Given the description of an element on the screen output the (x, y) to click on. 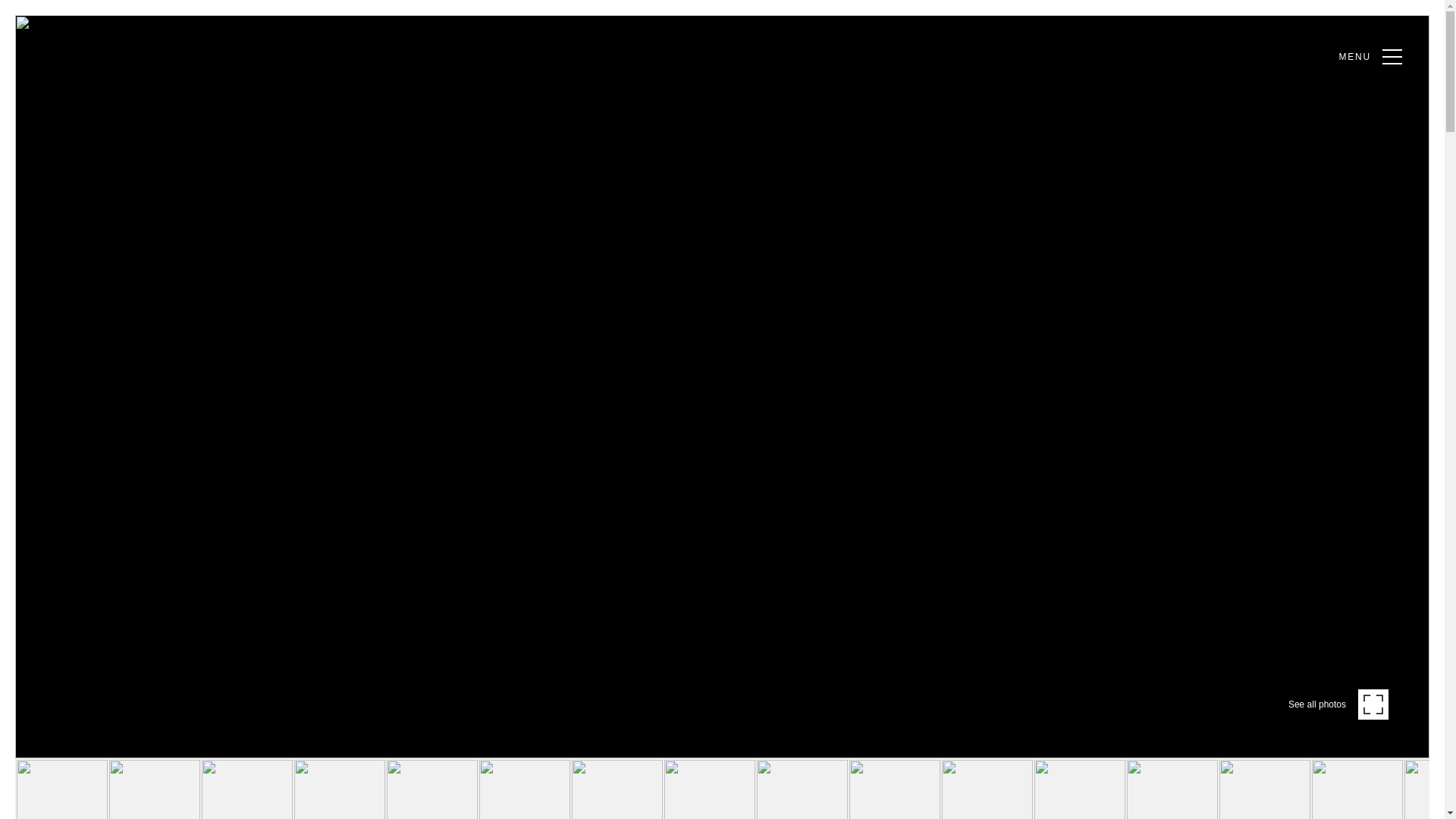
MENU (1369, 56)
